Given the description of an element on the screen output the (x, y) to click on. 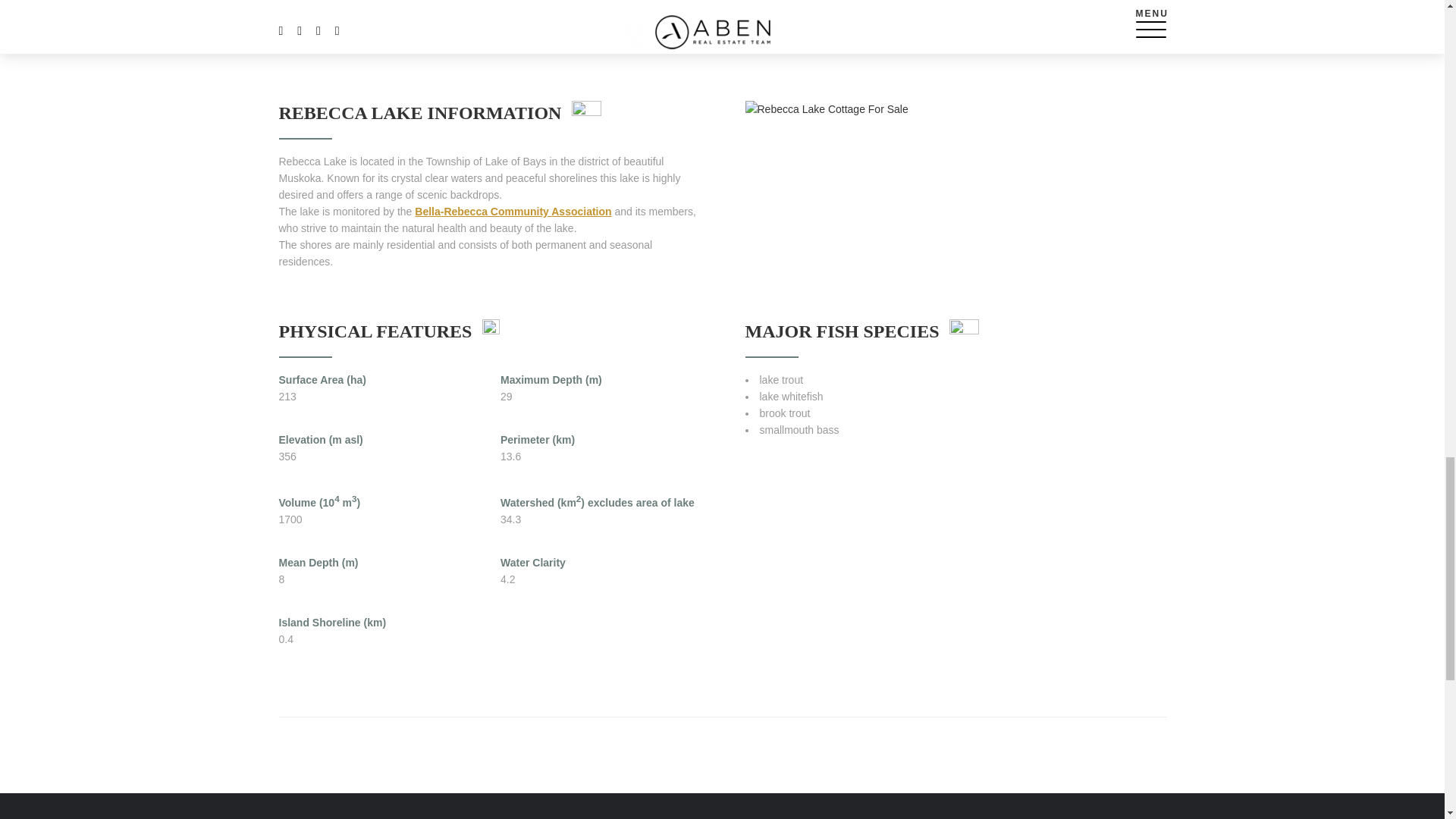
Rebecca Lake Cottage For Sale (825, 108)
fish-icon (963, 330)
lake-icon (586, 111)
Bella-Rebecca Community Association (512, 211)
